Given the description of an element on the screen output the (x, y) to click on. 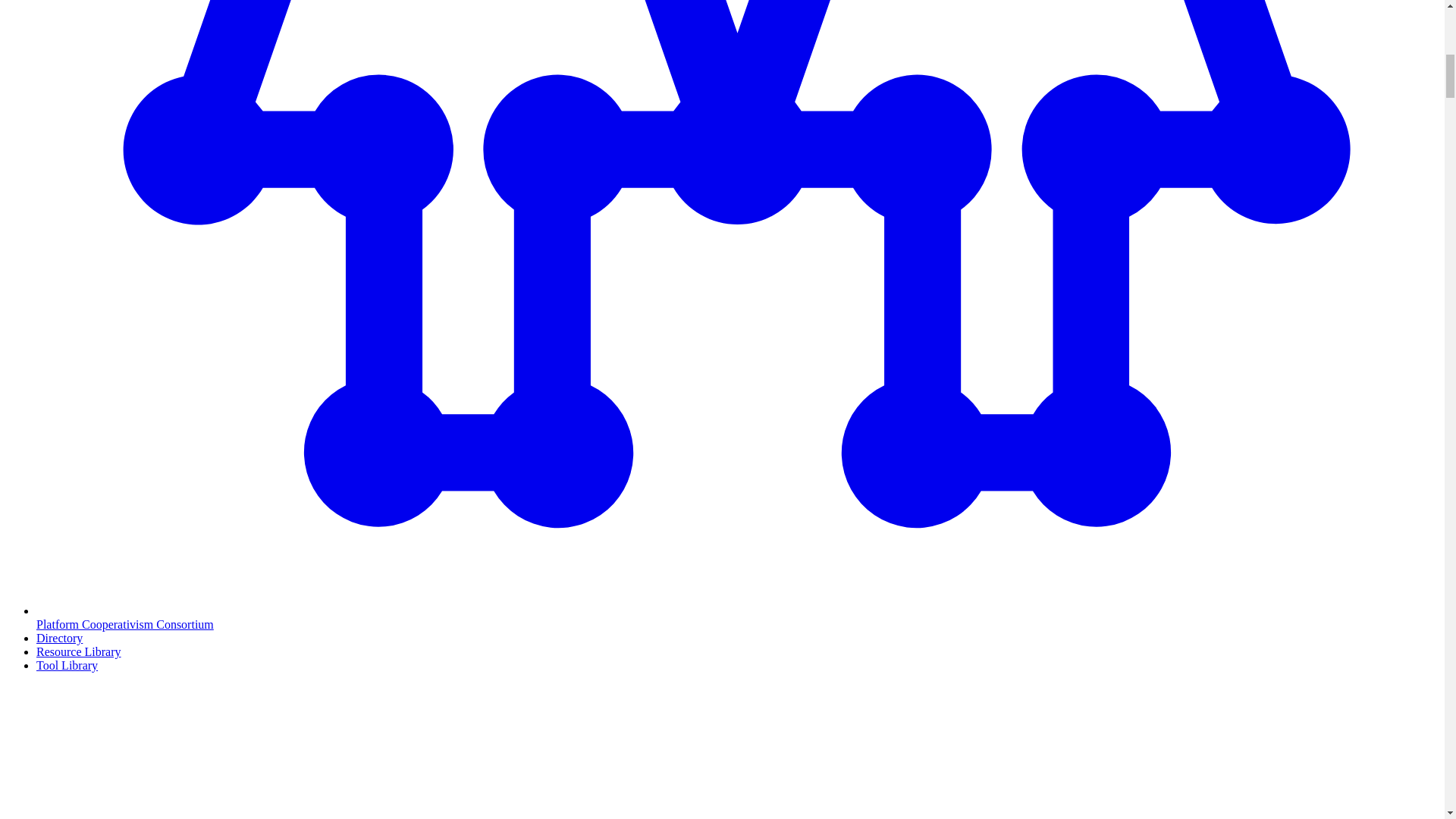
Tool Library (66, 665)
Directory (59, 637)
Resource Library (78, 651)
